Given the description of an element on the screen output the (x, y) to click on. 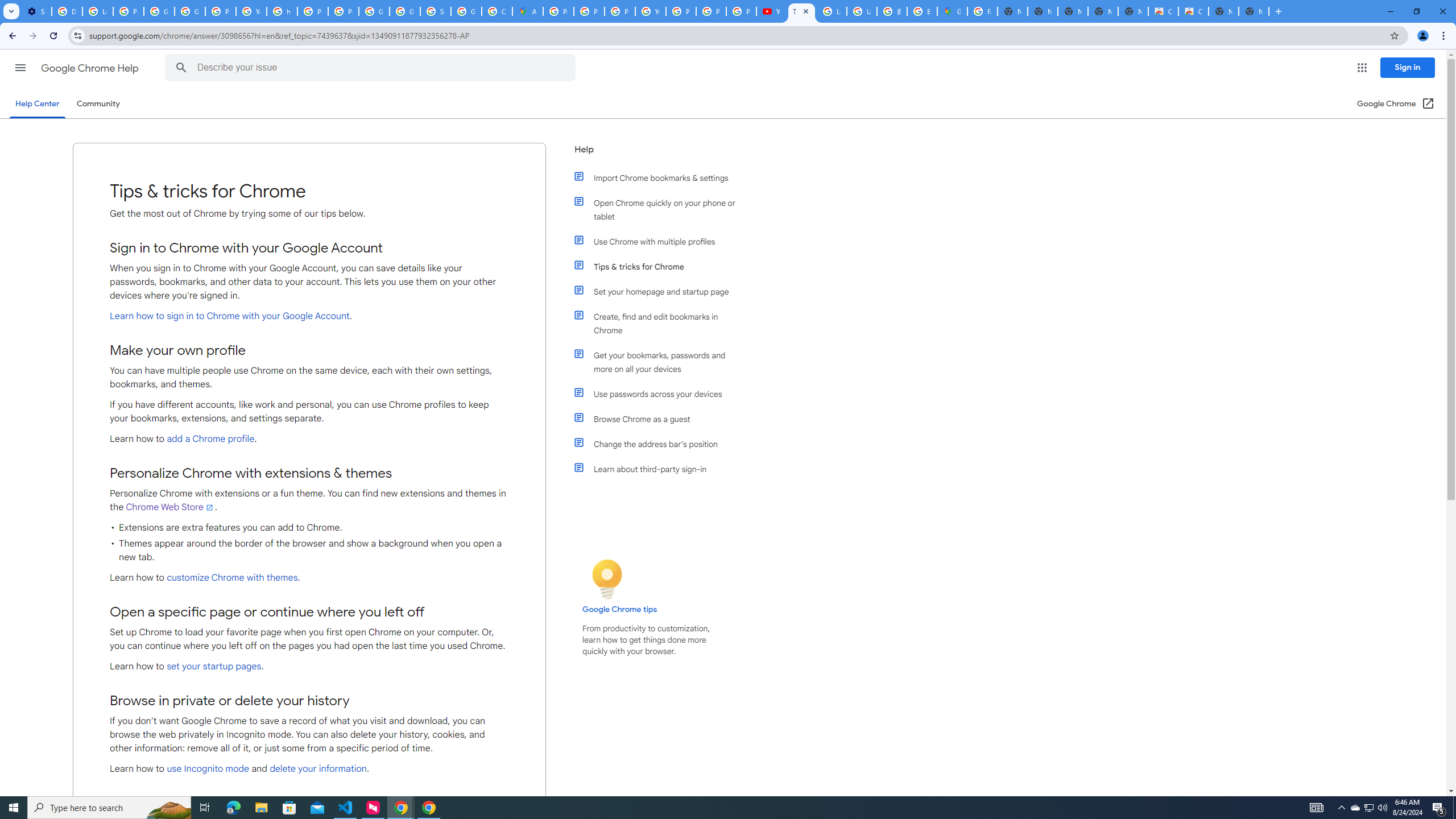
Use Chrome with multiple profiles (661, 241)
Tips & tricks for Chrome (661, 266)
